Given the description of an element on the screen output the (x, y) to click on. 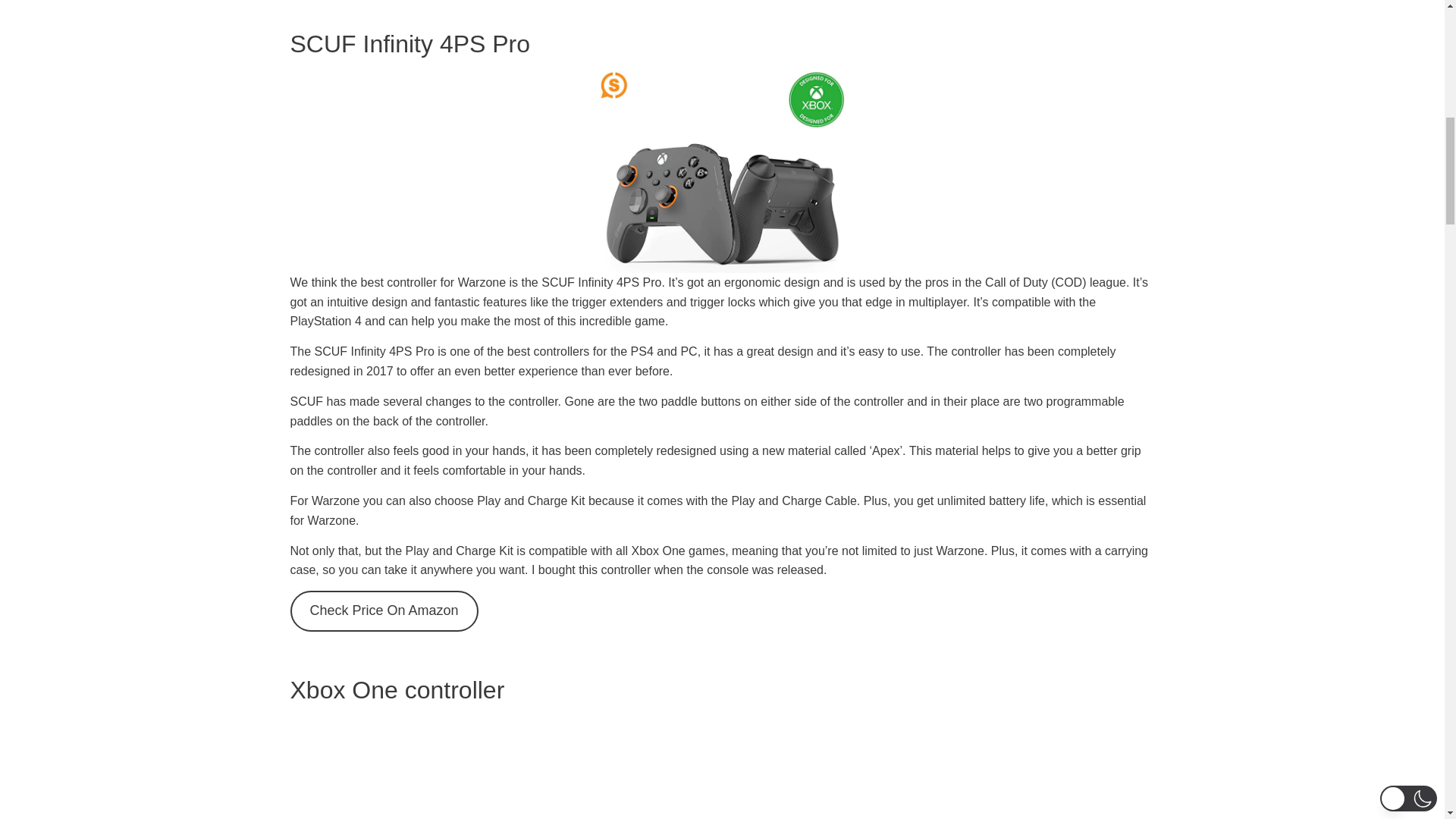
best controller for warzone (721, 171)
Xbox One controller (722, 767)
